Given the description of an element on the screen output the (x, y) to click on. 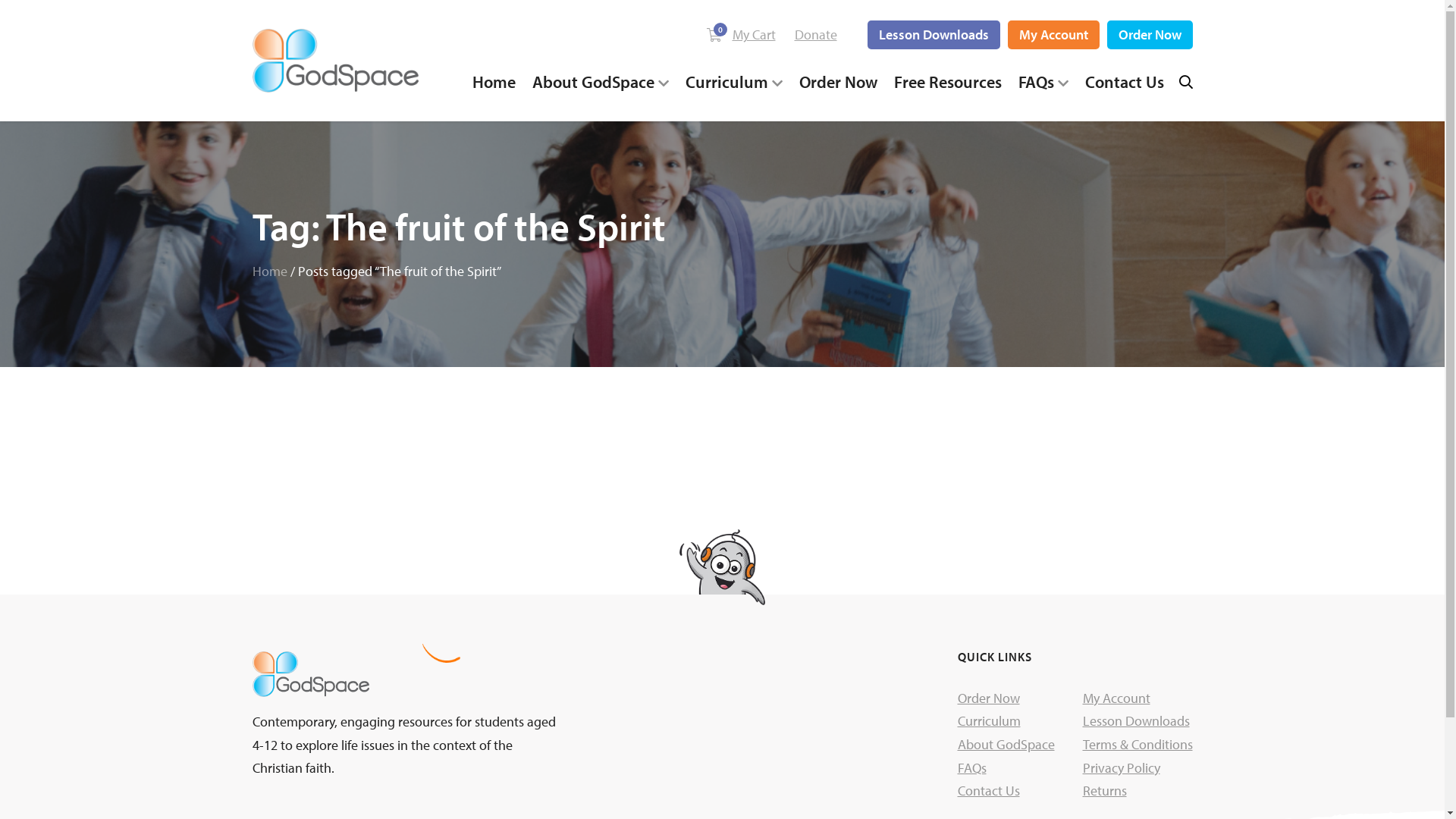
FAQs Element type: text (1042, 81)
Privacy Policy Element type: text (1121, 766)
Curriculum Element type: text (988, 720)
About GodSpace Element type: text (1005, 744)
Home Element type: text (492, 81)
My Account Element type: text (1052, 34)
Contact Us Element type: text (1123, 81)
Lesson Downloads Element type: text (1135, 720)
Search Element type: text (892, 409)
Donate Element type: text (815, 34)
Order Now Element type: text (1149, 34)
Terms & Conditions Element type: text (1137, 744)
0
My Cart Element type: text (740, 34)
Order Now Element type: text (838, 81)
My Account Element type: text (1116, 697)
Order Now Element type: text (988, 697)
FAQs Element type: text (971, 766)
Curriculum Element type: text (733, 81)
Contact Us Element type: text (988, 790)
Returns Element type: text (1104, 790)
About GodSpace Element type: text (600, 81)
Lesson Downloads Element type: text (933, 34)
Home Element type: text (268, 270)
Free Resources Element type: text (947, 81)
